Given the description of an element on the screen output the (x, y) to click on. 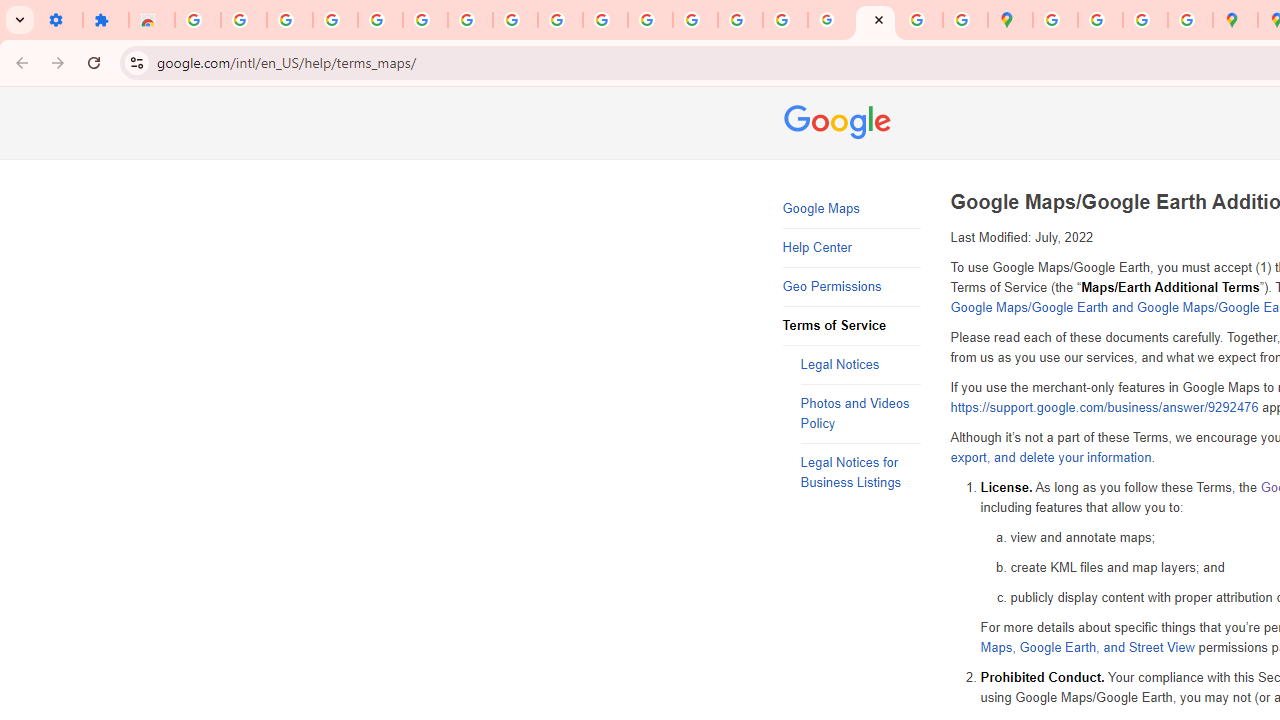
Settings - On startup (60, 20)
Legal Notices (860, 365)
Google Maps (1010, 20)
Photos and Videos Policy (860, 414)
Legal Notices for Business Listings (860, 473)
Sign in - Google Accounts (198, 20)
